Given the description of an element on the screen output the (x, y) to click on. 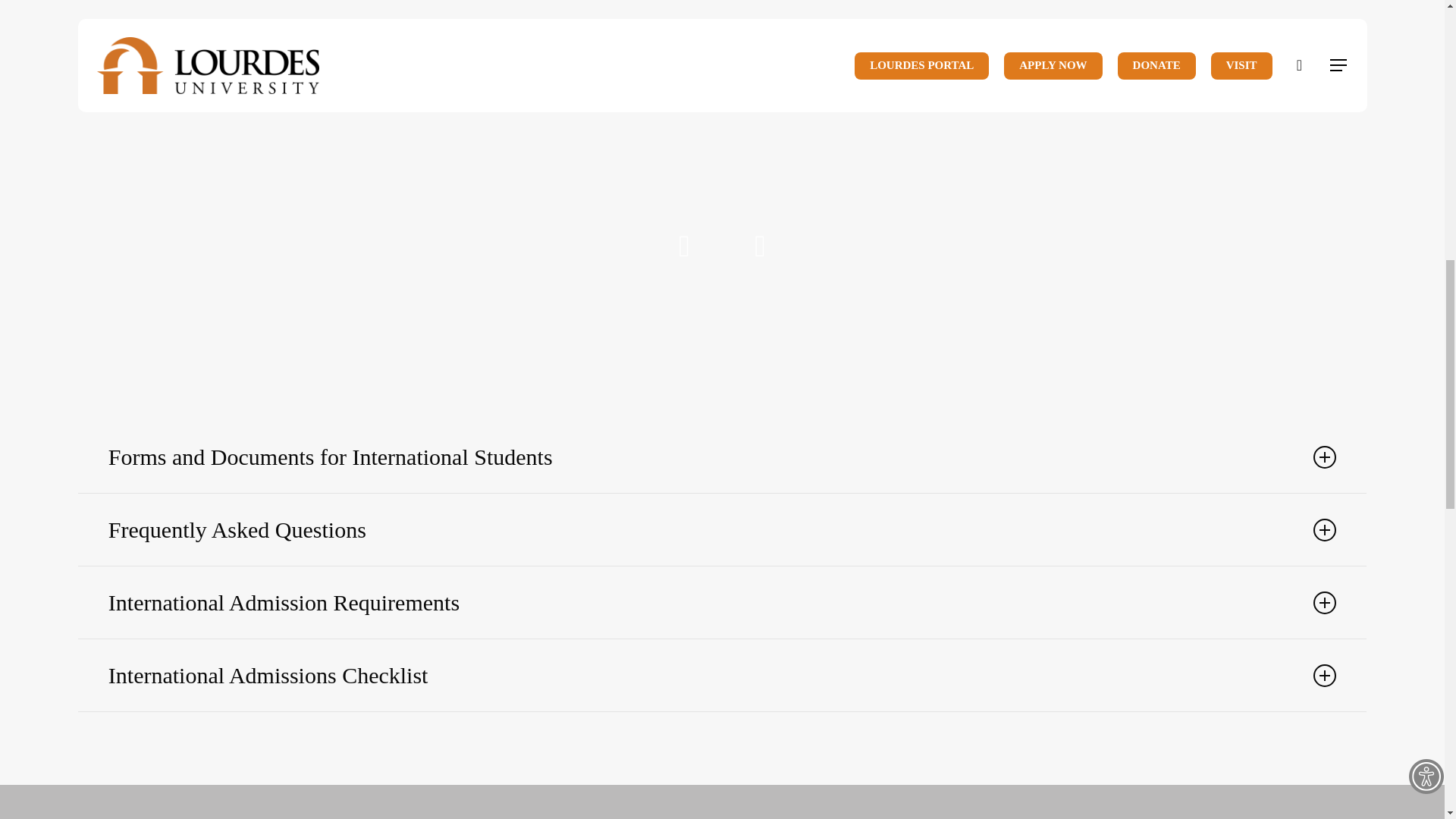
Forms and Documents for International Students (721, 456)
International Admission Requirements (721, 602)
Frequently Asked Questions (721, 529)
